Given the description of an element on the screen output the (x, y) to click on. 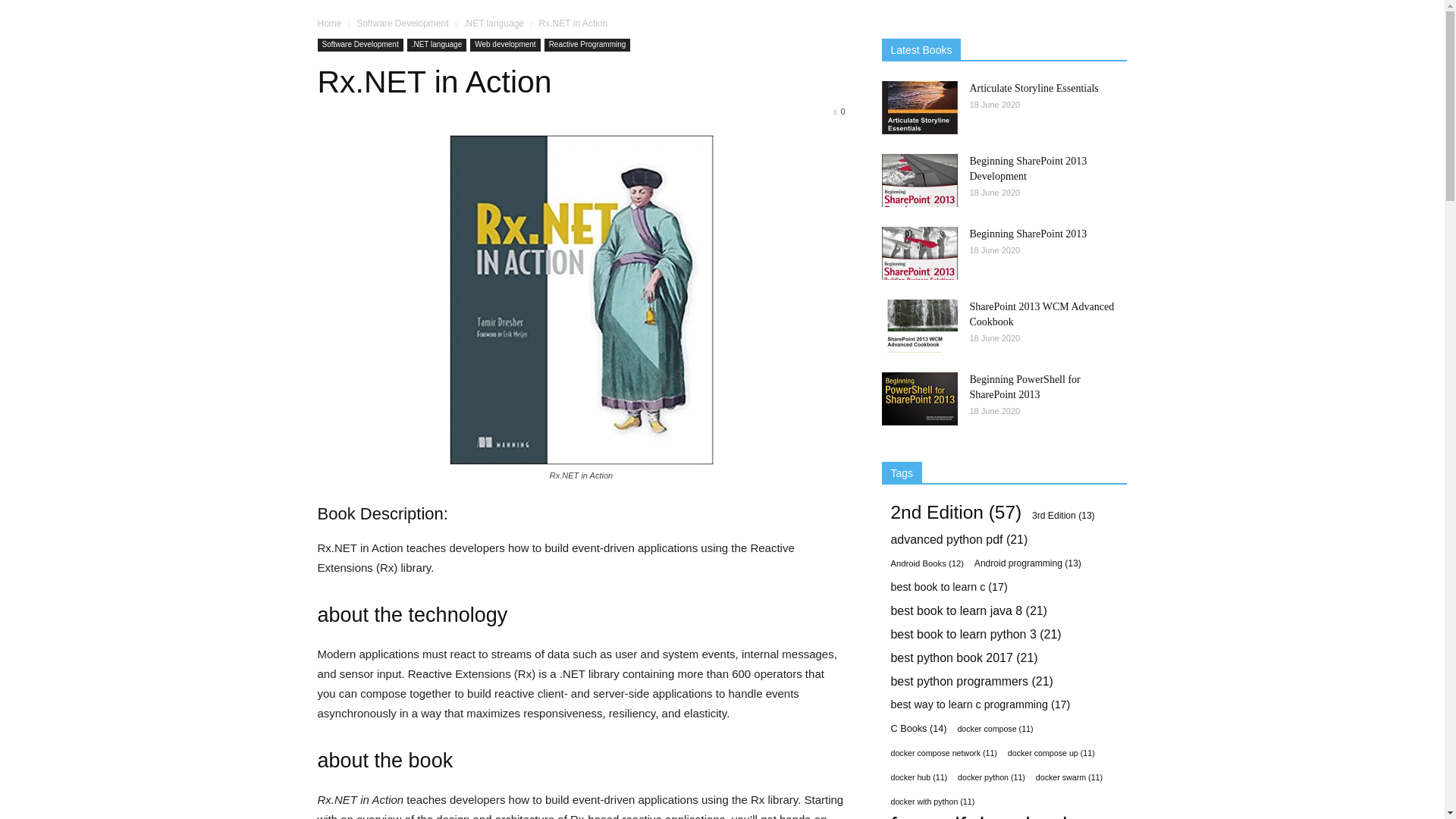
View all posts in .NET language (493, 23)
View all posts in Software Development (402, 23)
Rx.NET-in-Action (580, 300)
